Given the description of an element on the screen output the (x, y) to click on. 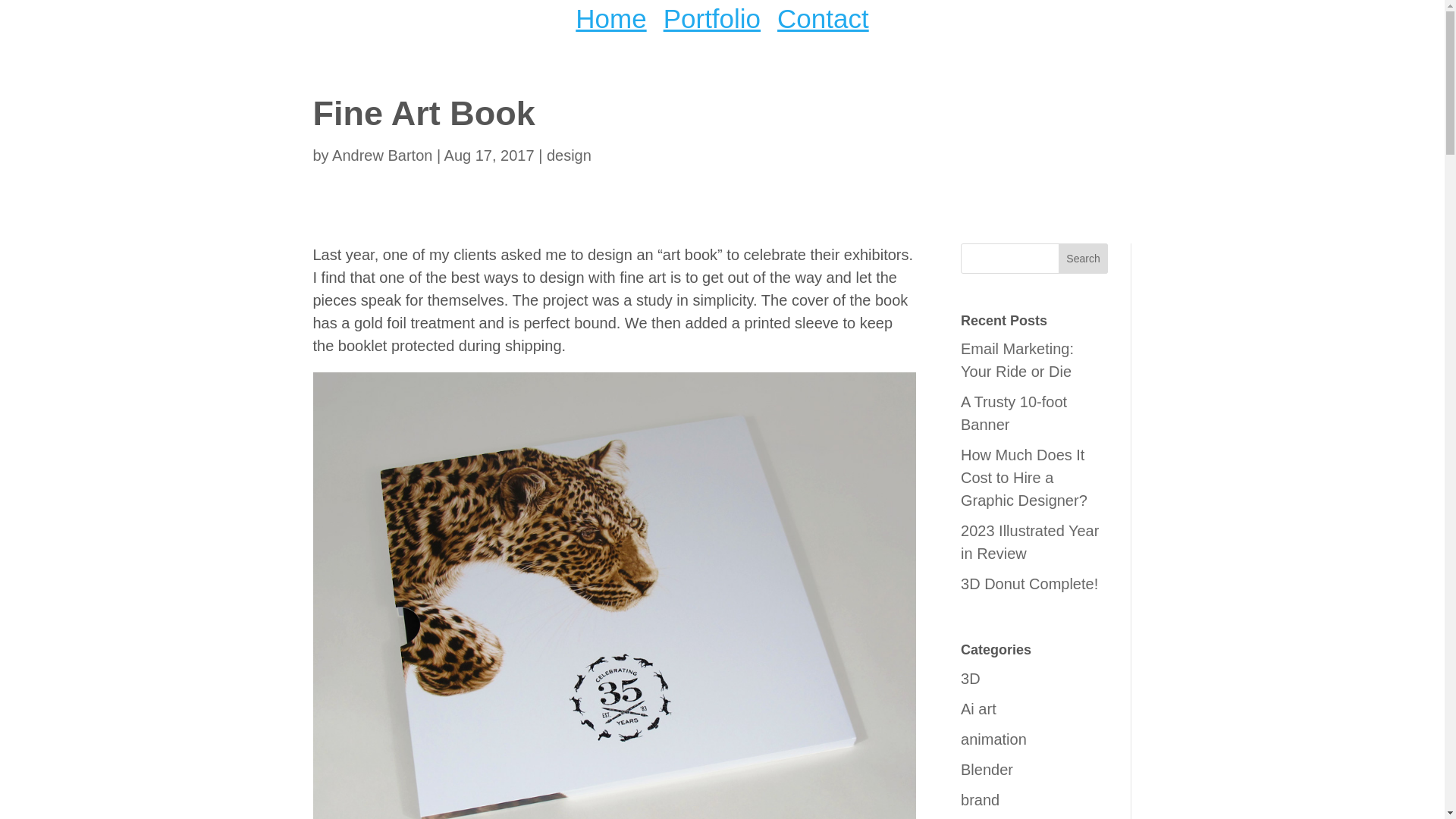
Search (1083, 257)
Andrew Barton (381, 155)
A Trusty 10-foot Banner (1013, 413)
animation (993, 739)
Portfolio (711, 21)
Blender (986, 769)
3D Donut Complete! (1028, 583)
Ai art (977, 709)
Email Marketing: Your Ride or Die (1017, 360)
How Much Does It Cost to Hire a Graphic Designer? (1023, 477)
Search (1083, 257)
3D (969, 678)
design (569, 155)
Contact (823, 21)
Posts by Andrew Barton (381, 155)
